Given the description of an element on the screen output the (x, y) to click on. 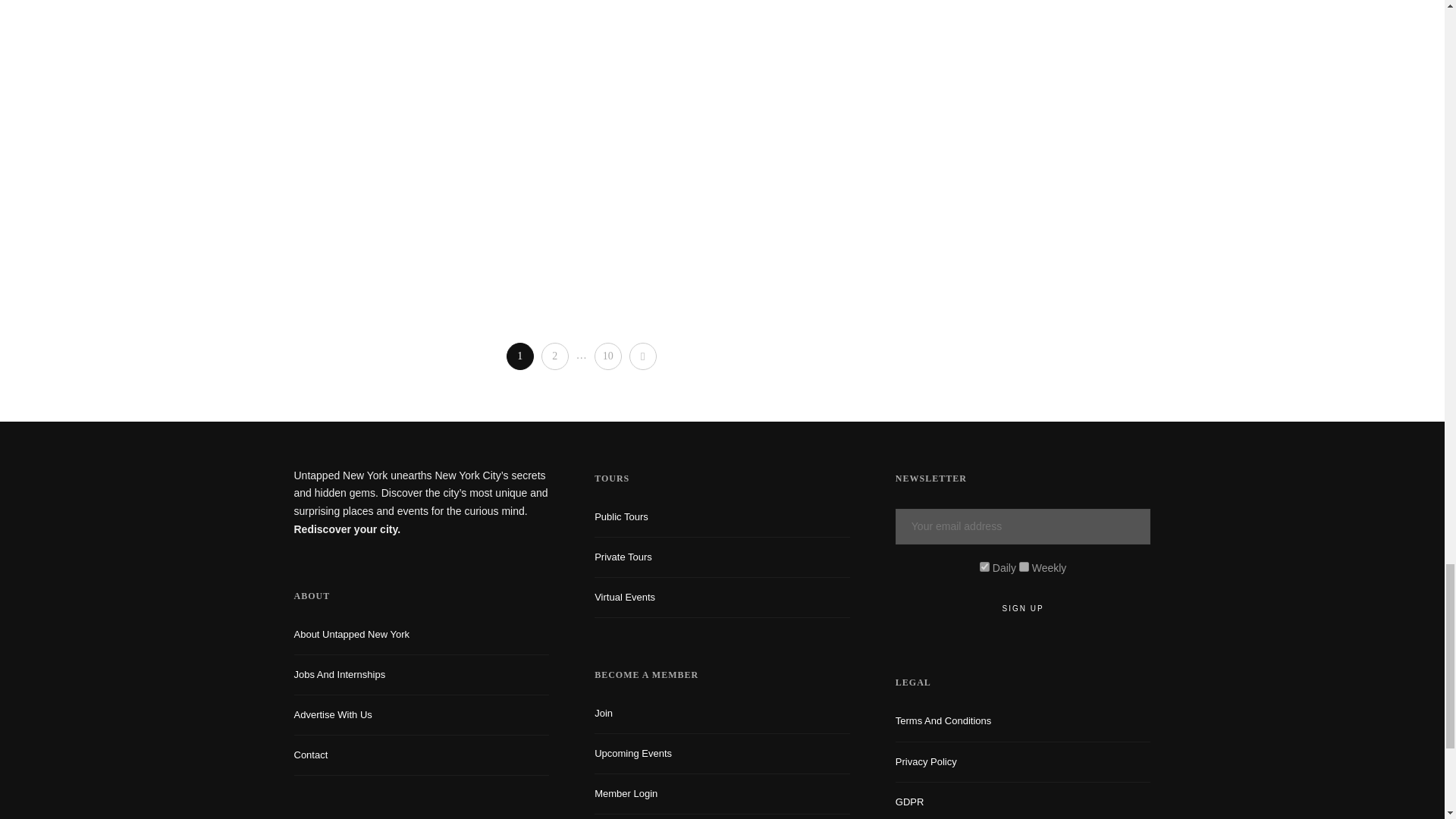
7cff6a70fd (1024, 566)
Sign up (1023, 608)
e99a09560c (984, 566)
